Given the description of an element on the screen output the (x, y) to click on. 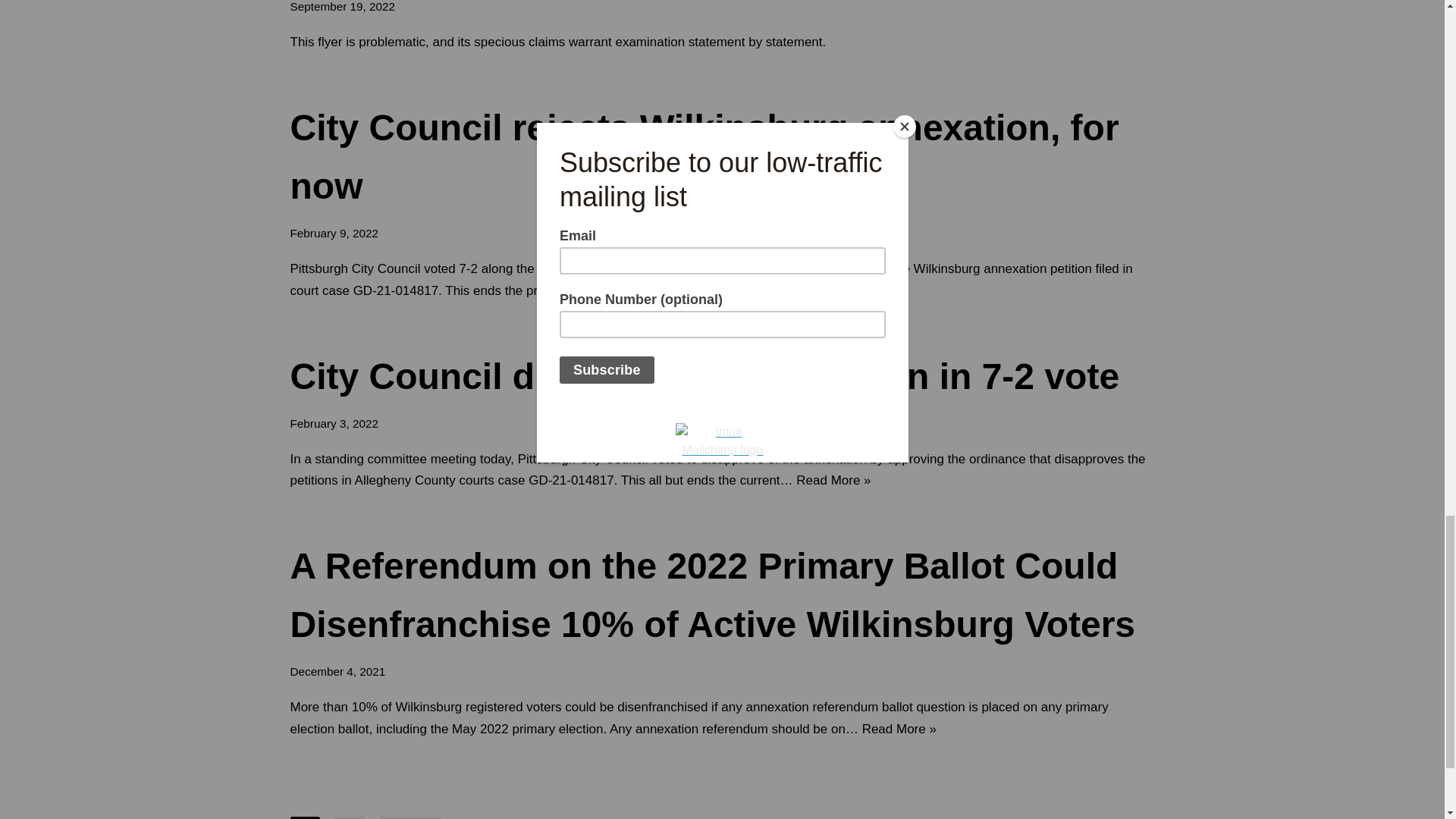
City Council disapproves annexation in 7-2 vote (704, 376)
City Council rejects Wilkinsburg annexation, for now (703, 156)
2 (349, 817)
